Given the description of an element on the screen output the (x, y) to click on. 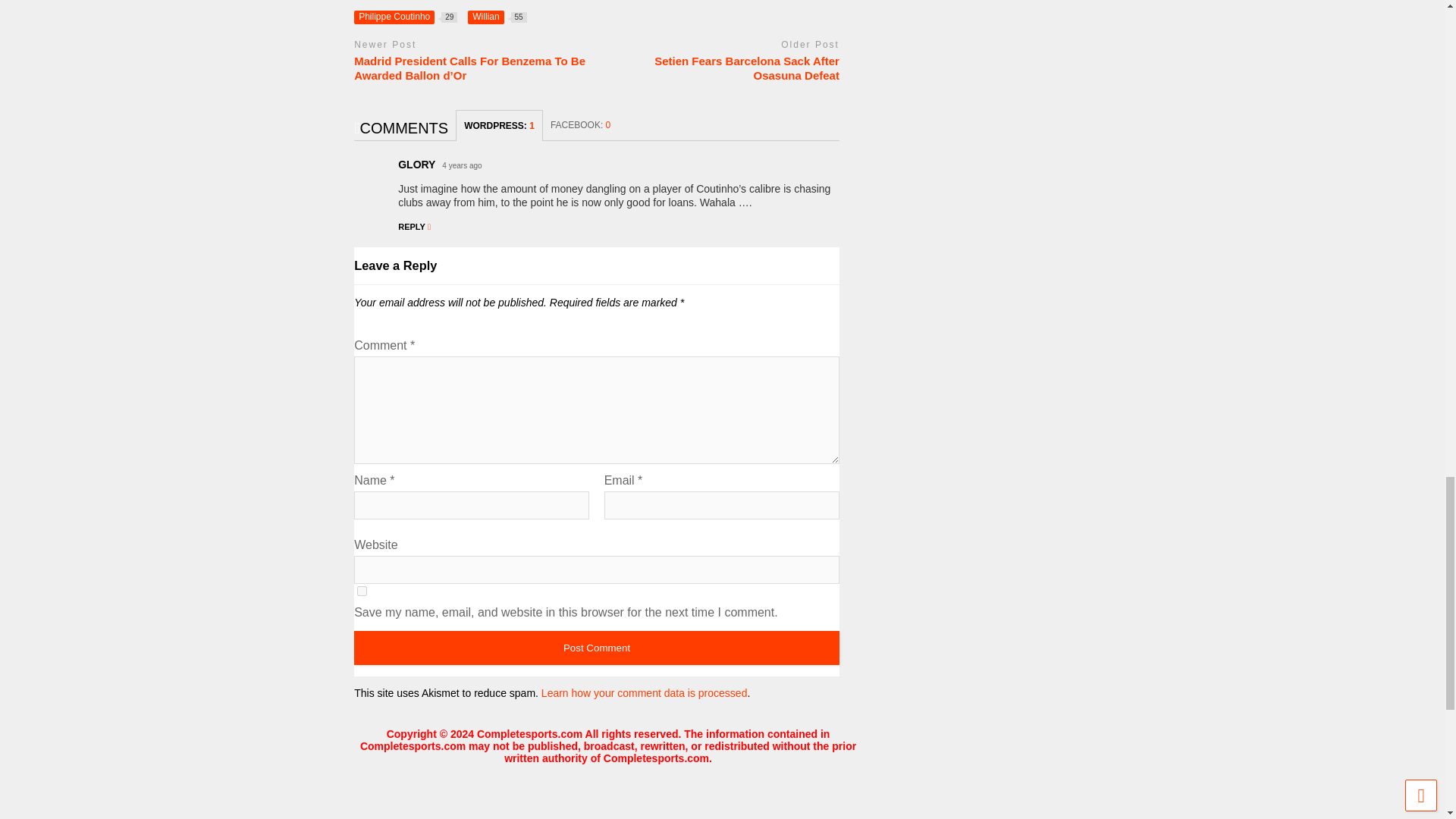
Post Comment (596, 647)
yes (361, 591)
